Given the description of an element on the screen output the (x, y) to click on. 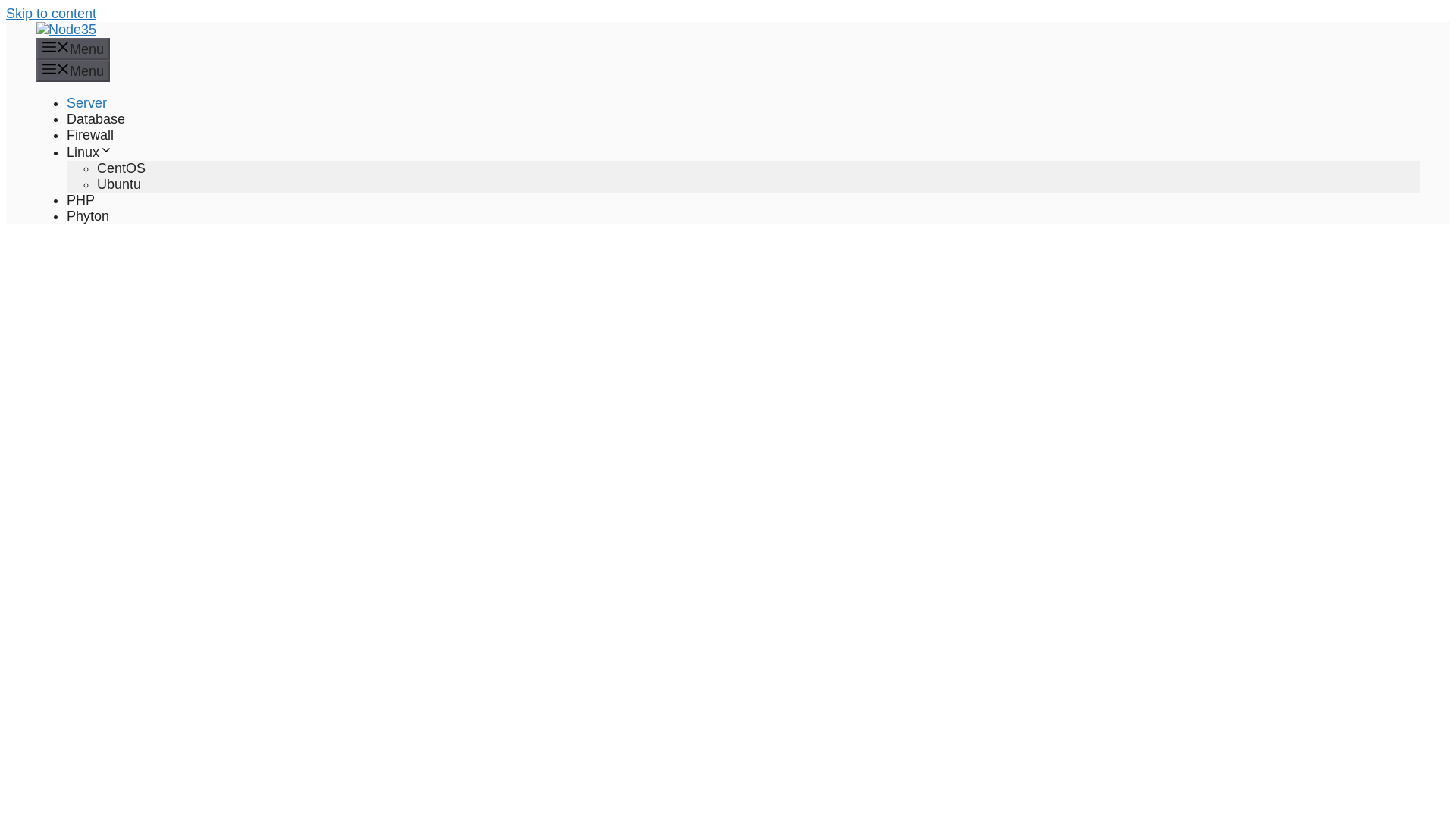
CentOS (121, 168)
Menu (73, 70)
Ubuntu (119, 183)
Firewall (89, 134)
Skip to content (50, 13)
PHP (80, 200)
Server (86, 102)
Database (95, 118)
Skip to content (50, 13)
Menu (73, 48)
